Given the description of an element on the screen output the (x, y) to click on. 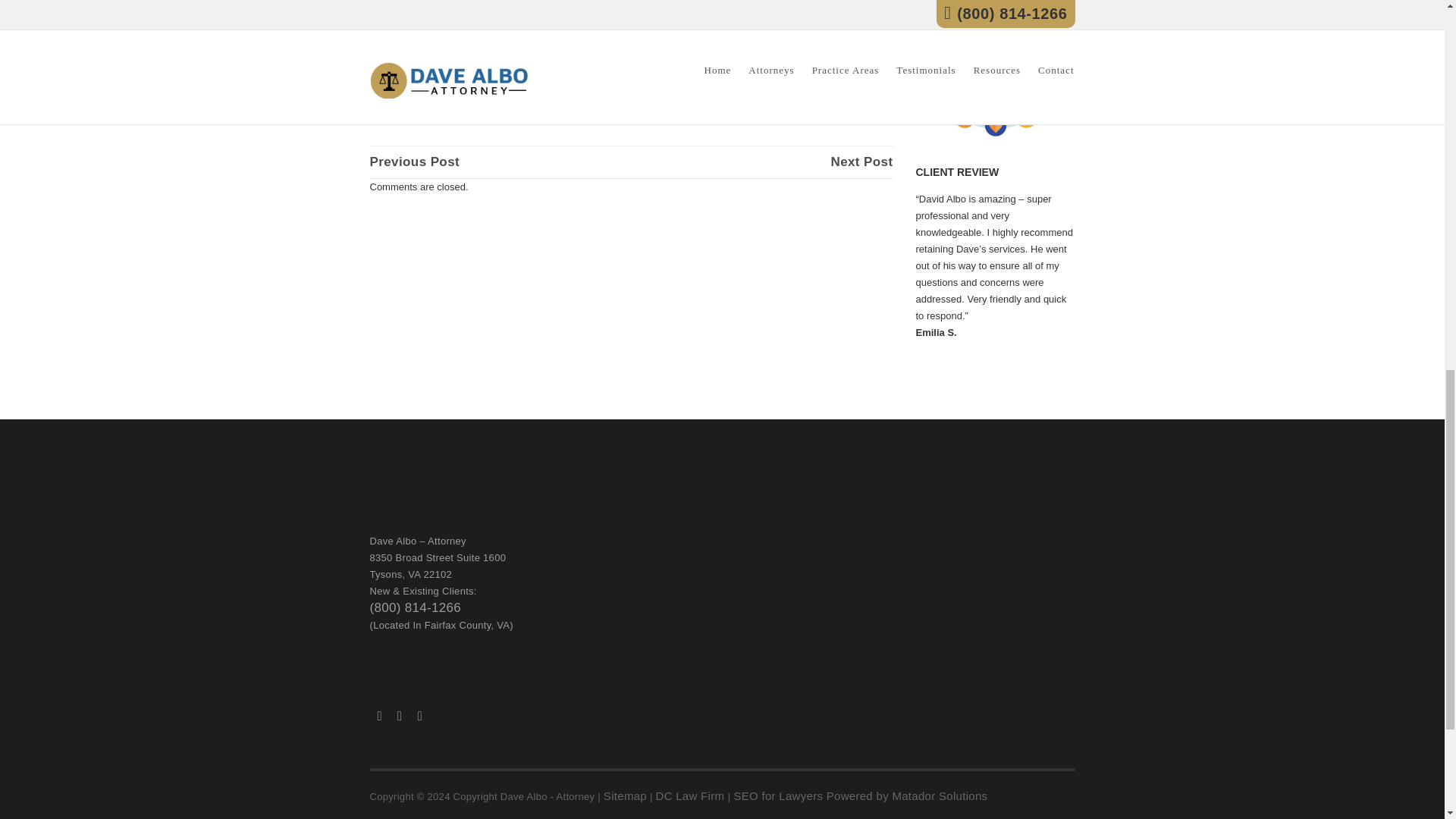
Answer to the Employment Law Question for September 2012 (414, 161)
